Given the description of an element on the screen output the (x, y) to click on. 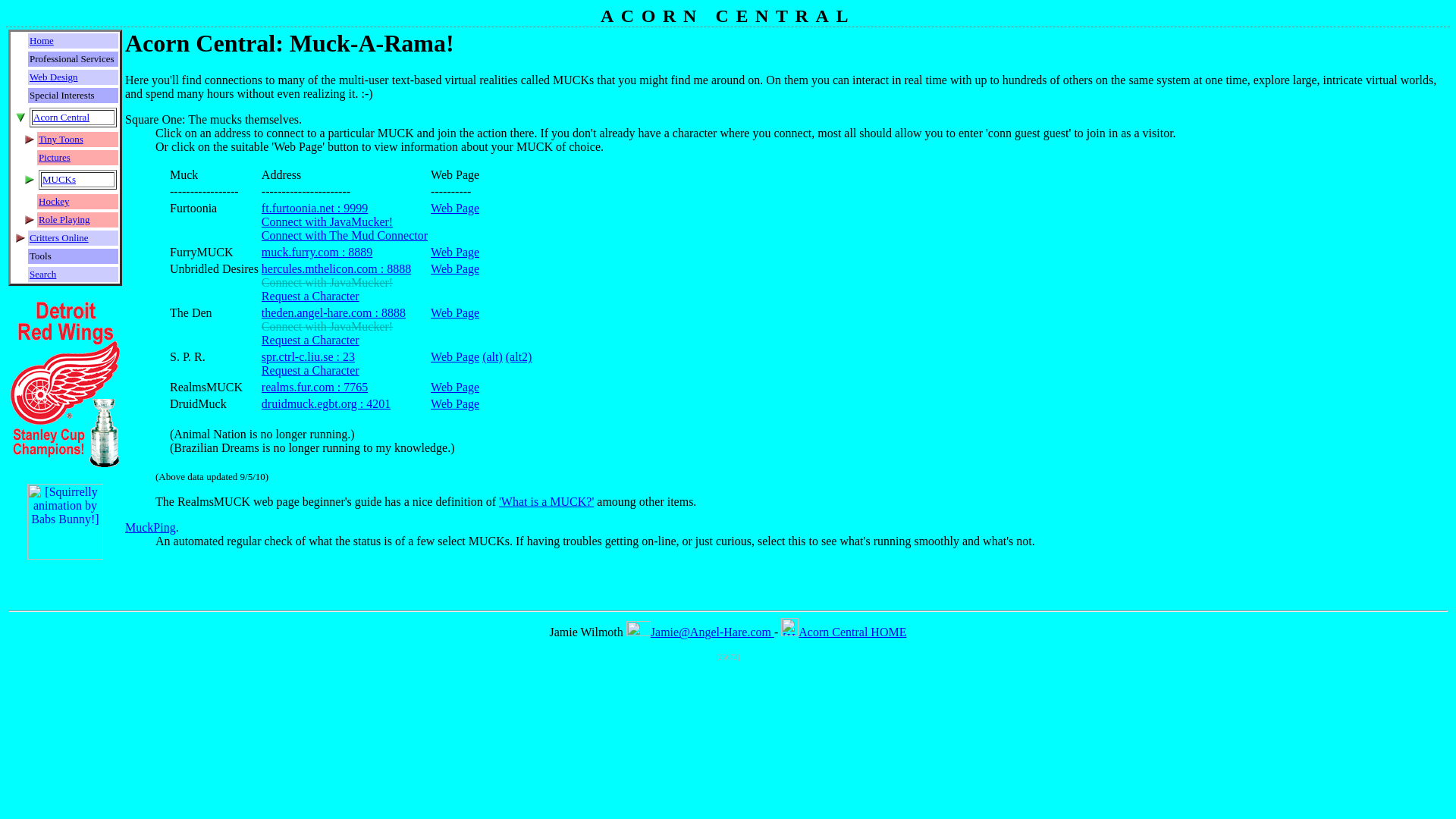
Web Page (454, 312)
Web Page (454, 207)
Acorn Central HOME (842, 631)
Role Playing (64, 219)
Web Page (454, 386)
Connect with The Mud Connector (345, 235)
Acorn Central (60, 116)
Critters Online (58, 237)
Hockey (53, 201)
spr.ctrl-c.liu.se : 23 (308, 356)
Squirrelly animation by Babs Bunny! (65, 554)
ft.furtoonia.net : 9999 (315, 207)
Being worked on! (327, 326)
MuckPing (150, 526)
Web Page (454, 251)
